Given the description of an element on the screen output the (x, y) to click on. 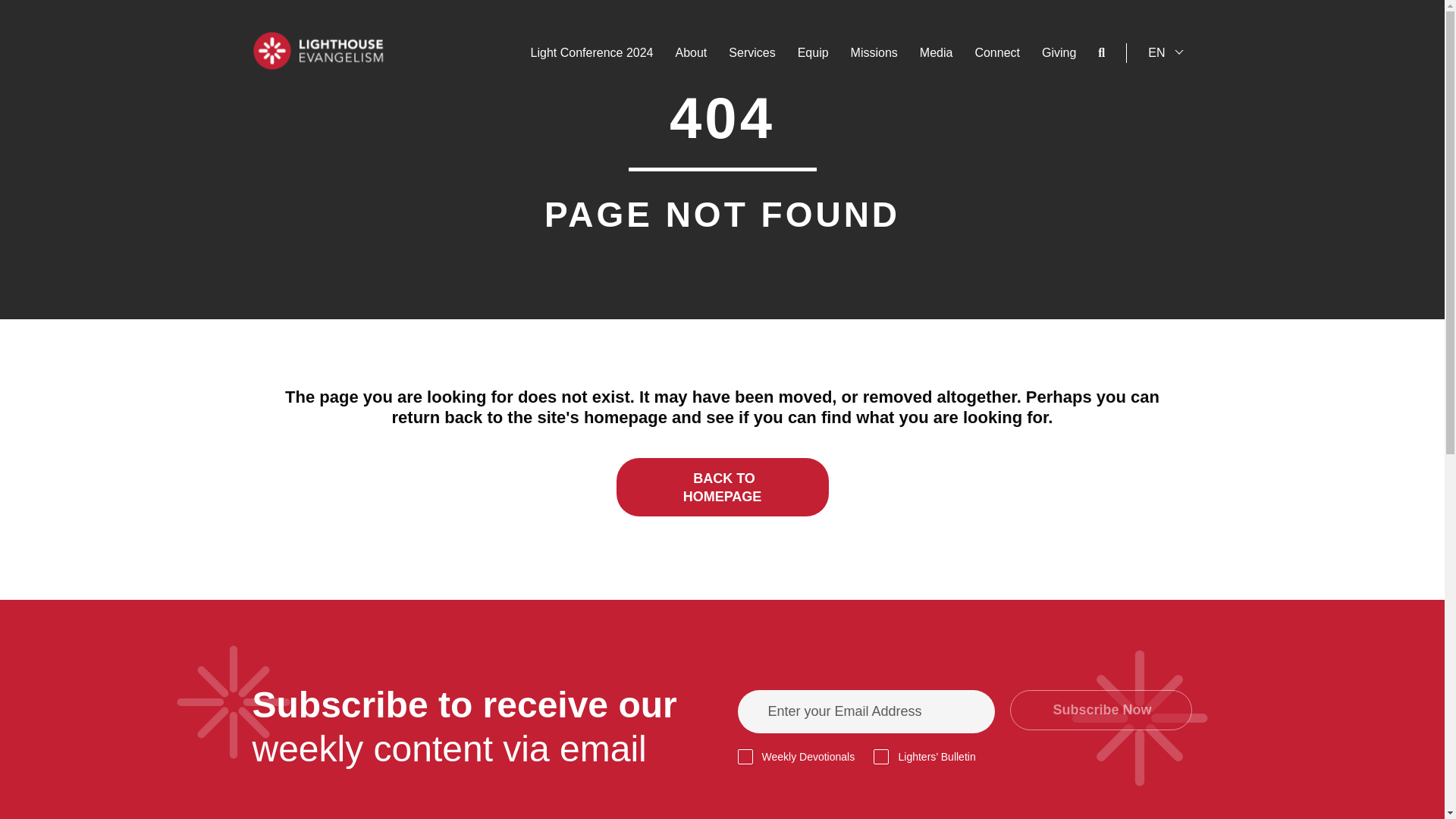
Connect (997, 53)
About (690, 53)
Subscribe Now (1101, 710)
Services (751, 53)
1 (880, 756)
Light Conference 2024 (592, 53)
Equip (812, 53)
1 (744, 756)
Missions (874, 53)
Media (936, 53)
